Given the description of an element on the screen output the (x, y) to click on. 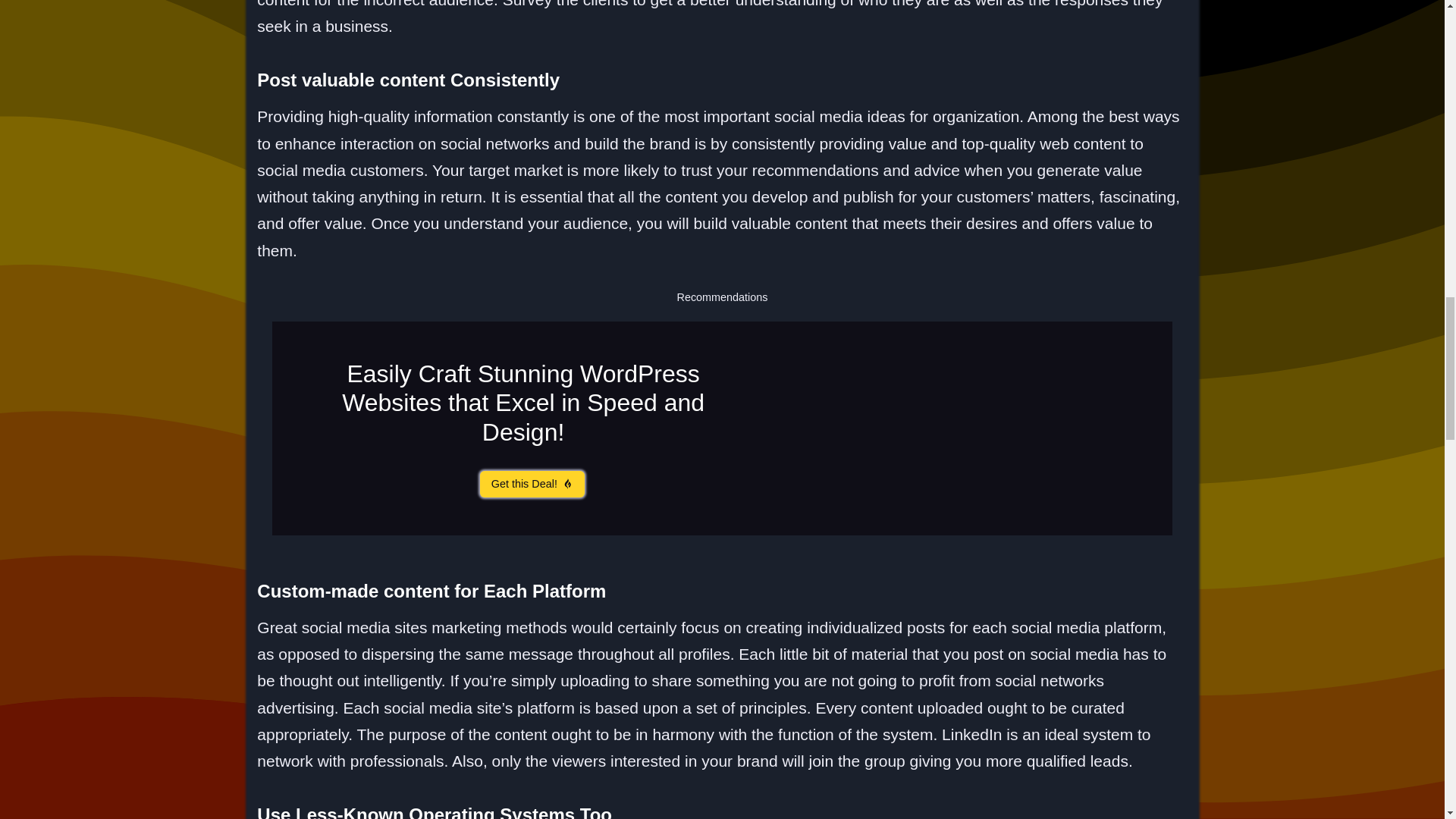
KadenceWP Image (1006, 428)
Get this Deal! (532, 483)
